Given the description of an element on the screen output the (x, y) to click on. 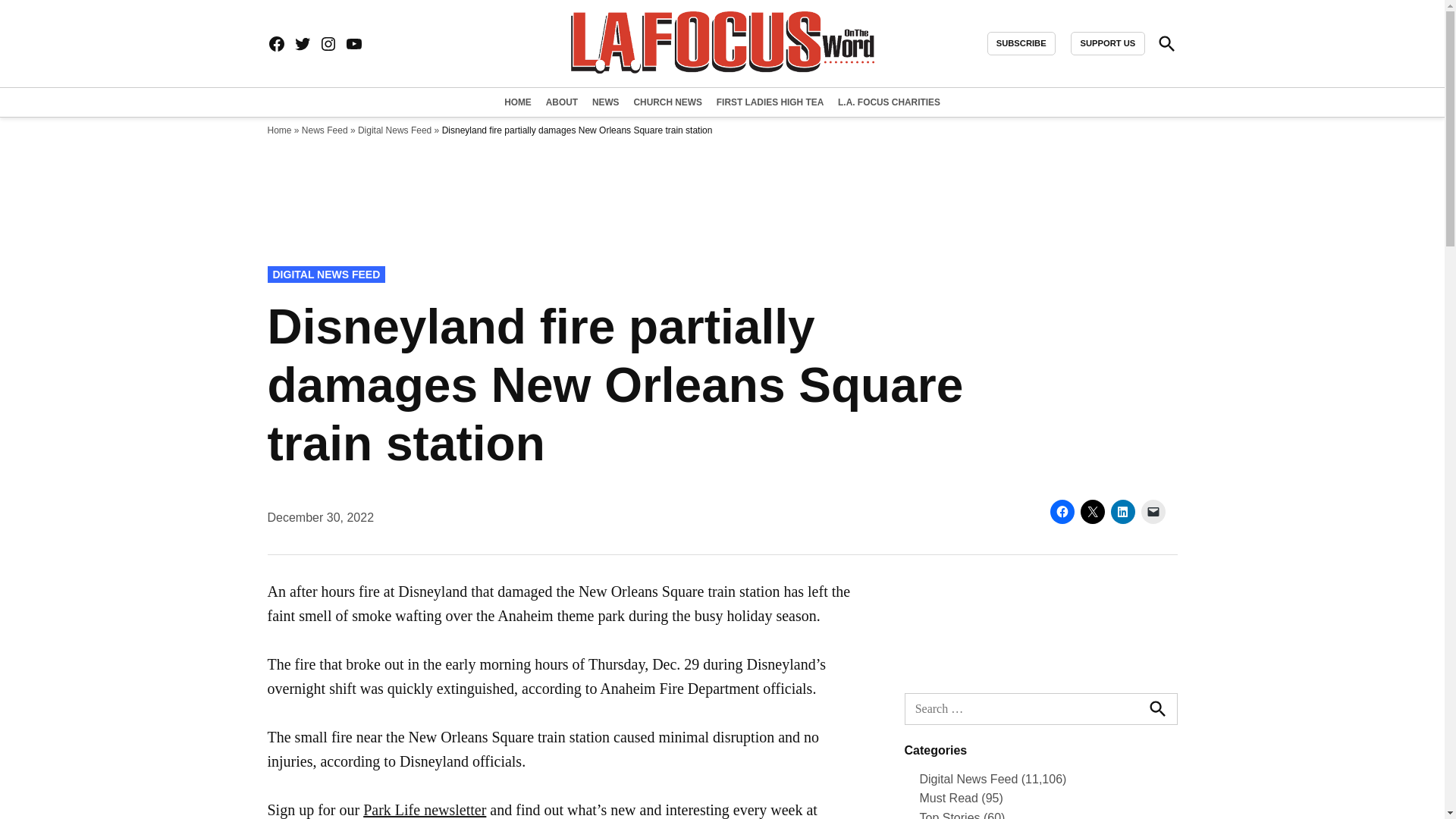
Click to share on X (1091, 511)
Instagram (327, 44)
SUBSCRIBE (1021, 43)
HOME (519, 102)
News Feed (324, 129)
FIRST LADIES HIGH TEA (770, 102)
ABOUT (560, 102)
Twitter (301, 44)
YouTube (352, 44)
Digital News Feed (394, 129)
